Given the description of an element on the screen output the (x, y) to click on. 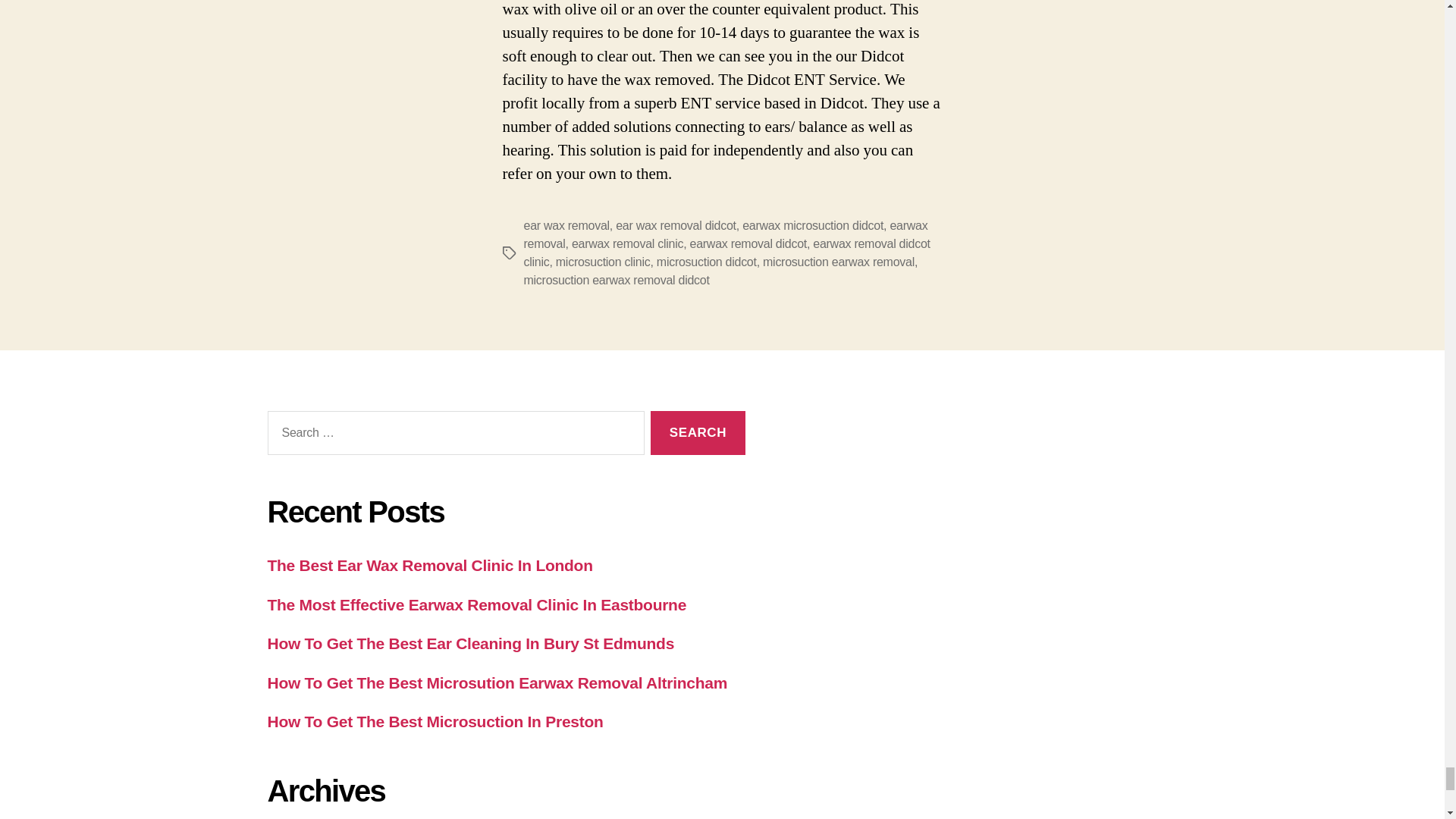
Search (697, 433)
Search (697, 433)
ear wax removal (565, 224)
